Given the description of an element on the screen output the (x, y) to click on. 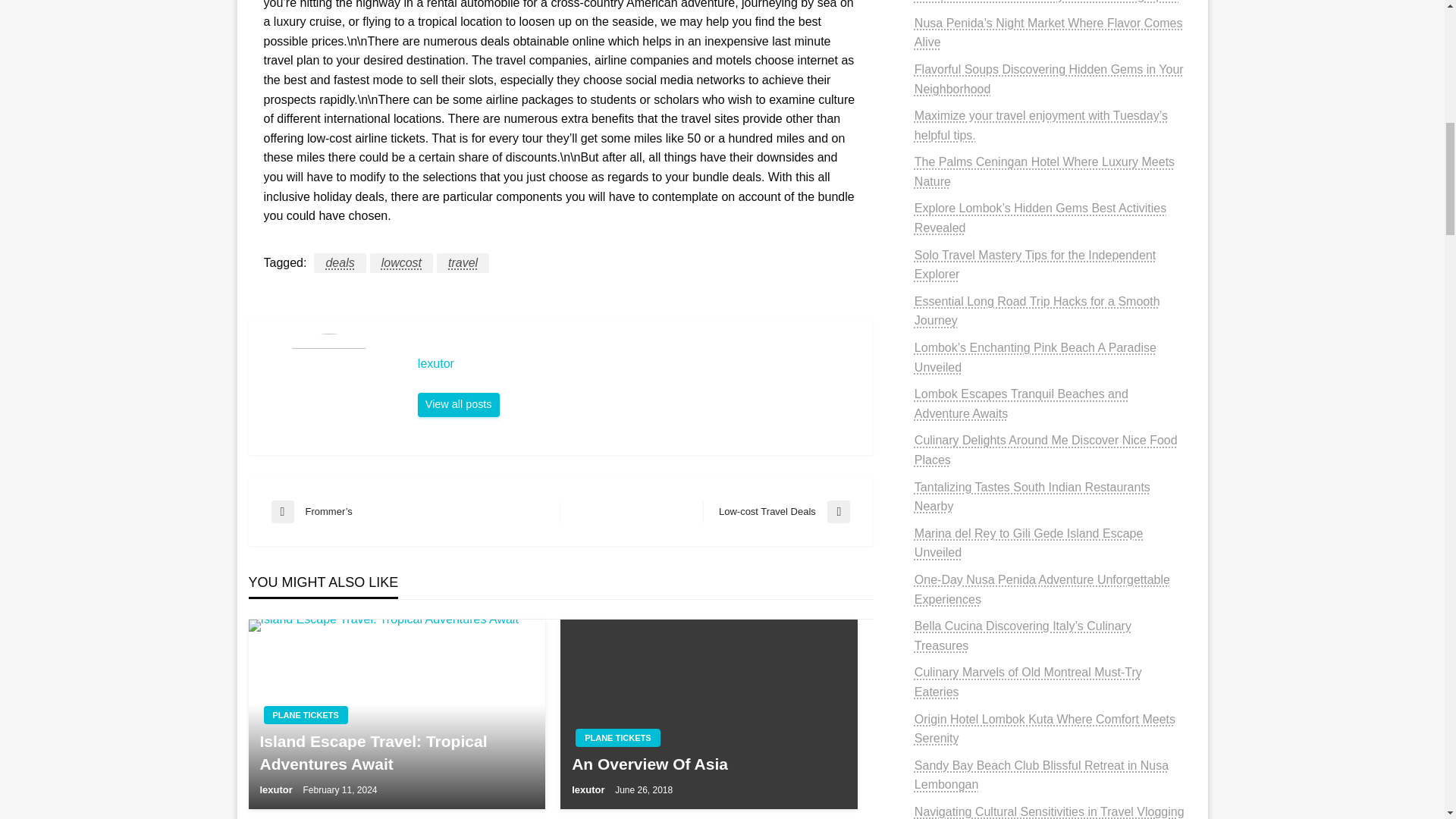
lexutor (637, 363)
lexutor (458, 404)
Island Escape Travel: Tropical Adventures Await (397, 714)
